Given the description of an element on the screen output the (x, y) to click on. 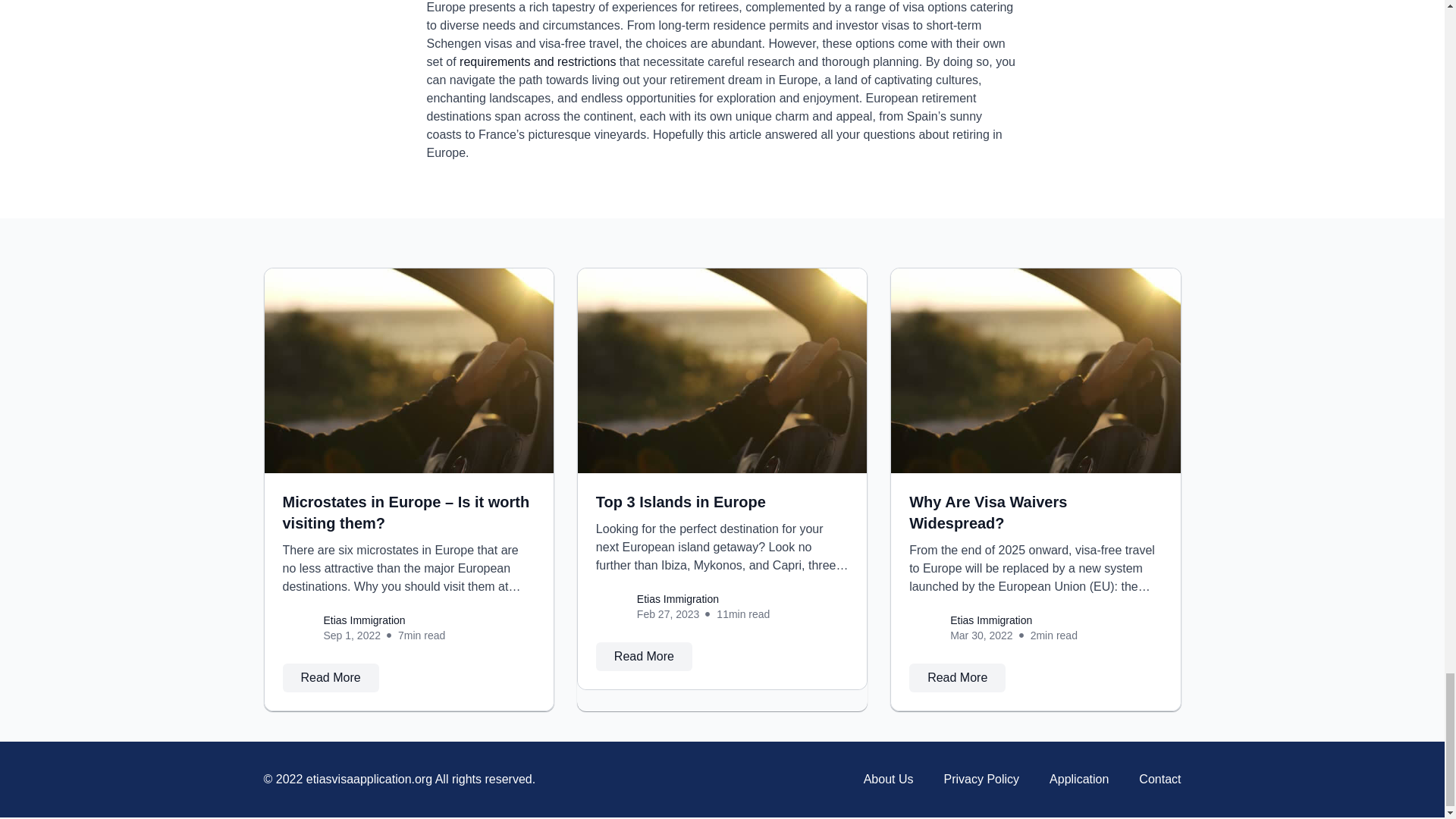
Privacy Policy (981, 779)
requirements and restrictions (537, 61)
Top 3 Islands in Europe (680, 501)
Application (1078, 779)
Read More (644, 656)
Read More (330, 677)
Contact (1159, 779)
About Us (888, 779)
Why Are Visa Waivers Widespread? (987, 512)
Read More (957, 677)
